Given the description of an element on the screen output the (x, y) to click on. 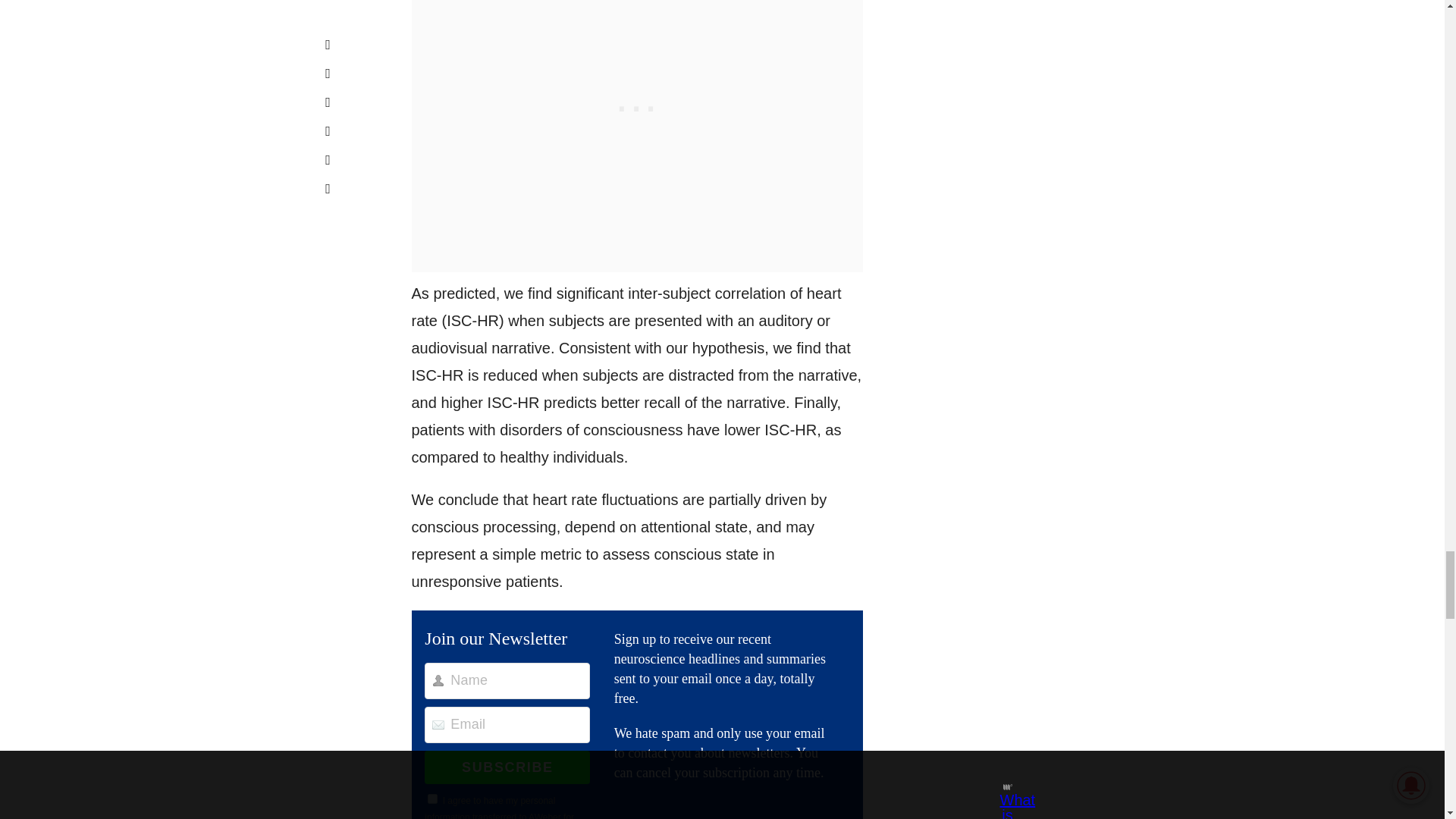
SUBSCRIBE (507, 767)
on (433, 798)
SUBSCRIBE (507, 767)
